Given the description of an element on the screen output the (x, y) to click on. 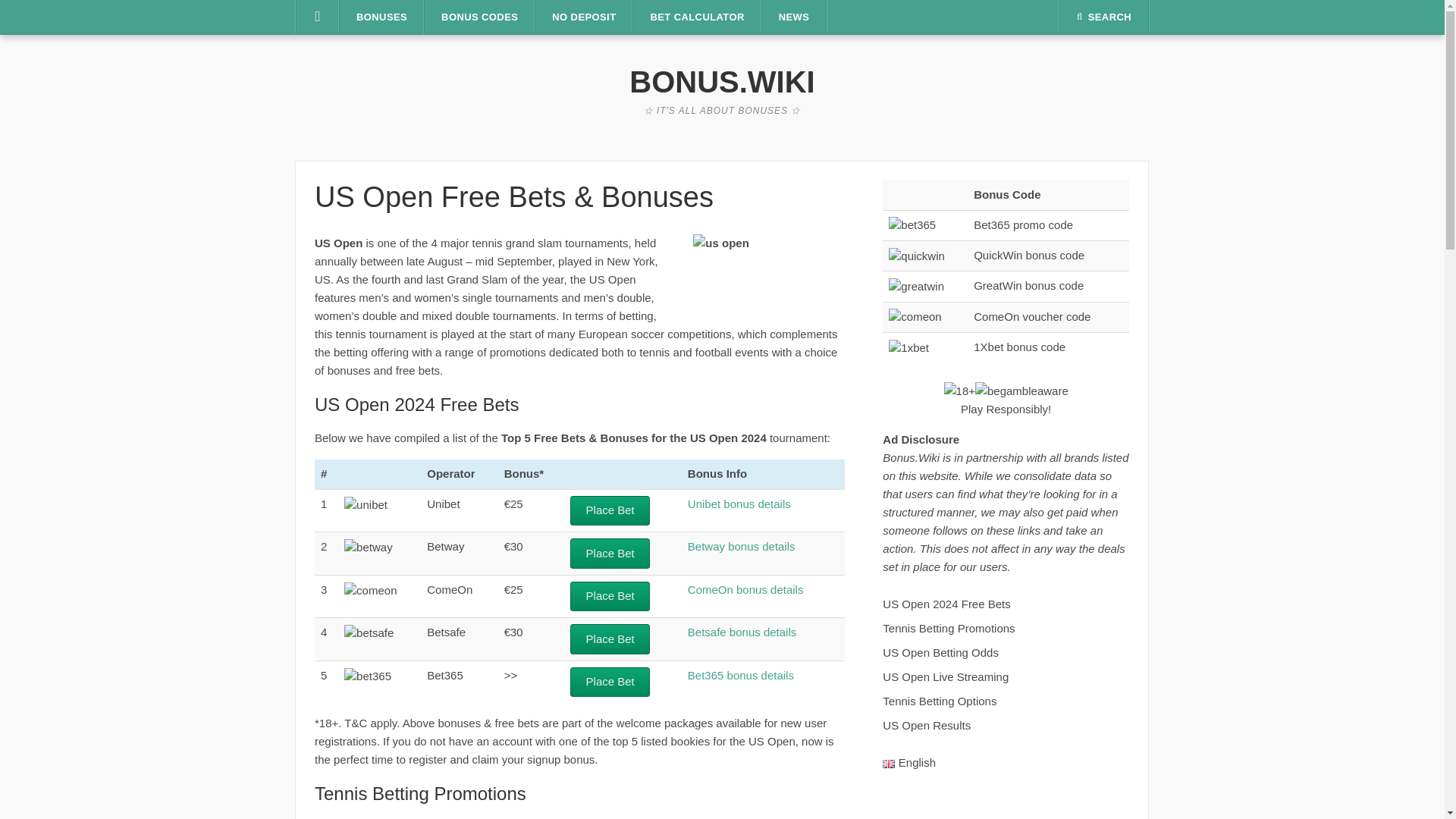
BET CALCULATOR (696, 17)
SEARCH (1104, 16)
BONUSES (381, 17)
US Open Results (926, 725)
US Open Live Streaming (945, 676)
NO DEPOSIT (583, 17)
US Open Betting Odds (940, 652)
BONUS CODES (479, 17)
US Open 2024 Free Bets (946, 603)
